Given the description of an element on the screen output the (x, y) to click on. 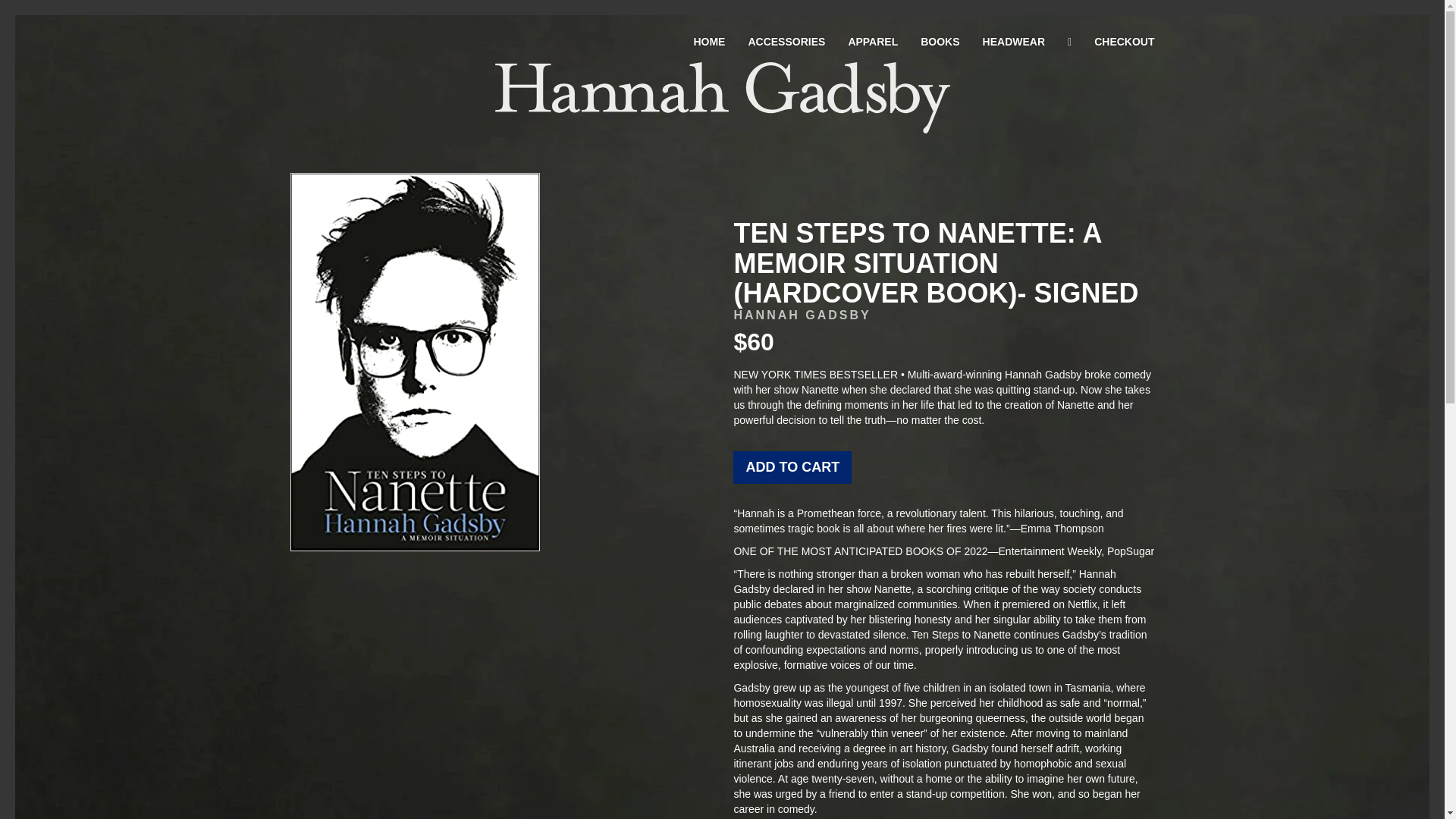
ACCESSORIES (785, 41)
APPAREL (871, 41)
ADD TO CART (792, 467)
HOME (708, 41)
BOOKS (939, 41)
CHECKOUT (1124, 41)
HEADWEAR (1014, 41)
